Given the description of an element on the screen output the (x, y) to click on. 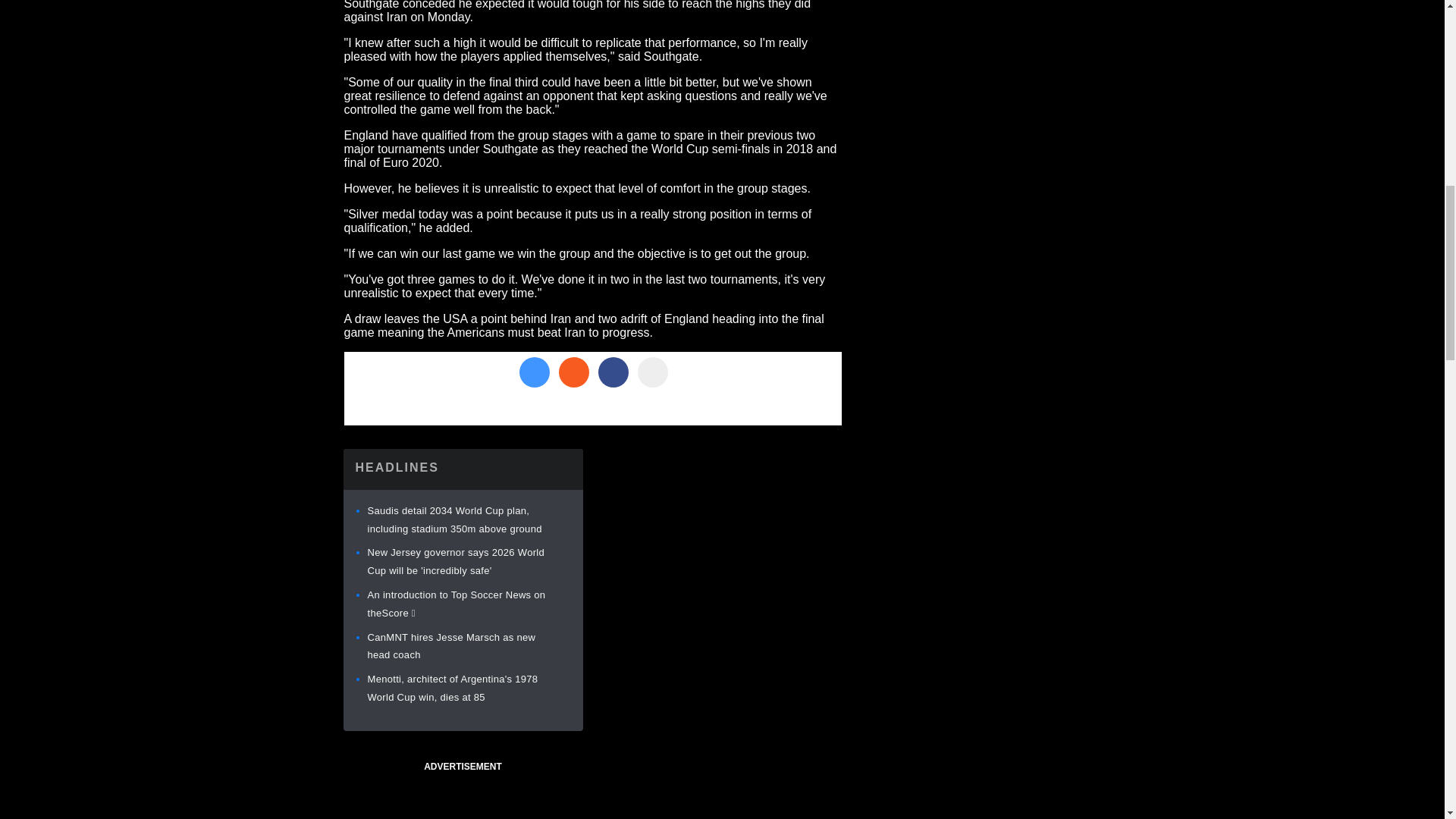
Facebook (611, 372)
Reddit (572, 372)
Twitter (533, 372)
Email (651, 372)
CanMNT hires Jesse Marsch as new head coach (450, 645)
